Given the description of an element on the screen output the (x, y) to click on. 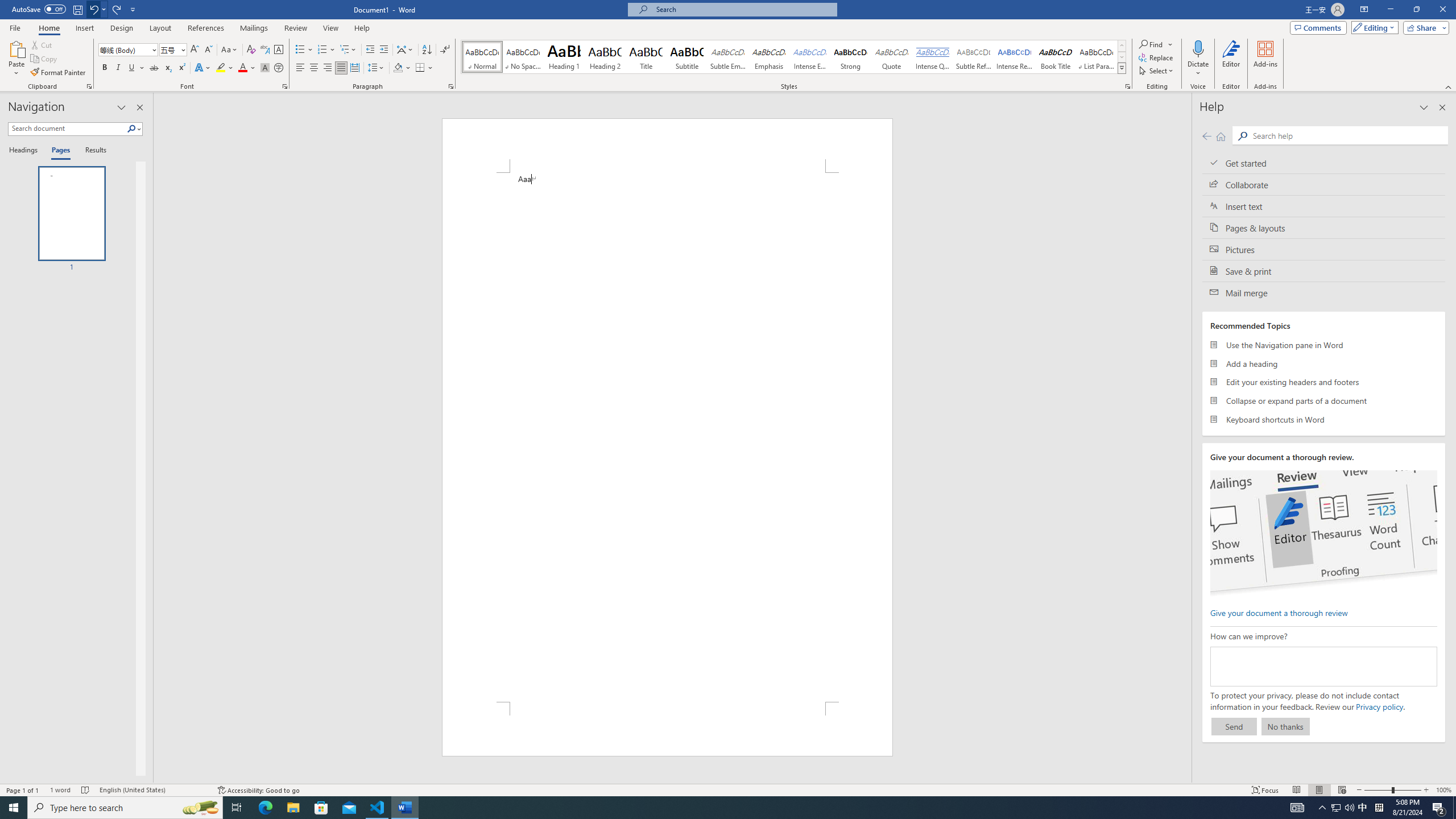
Align Right (327, 67)
Change Case (229, 49)
Text Highlight Color Yellow (220, 67)
Language English (United States) (152, 790)
Shrink Font (208, 49)
Task Pane Options (121, 107)
Undo Increase Indent (96, 9)
Search document (66, 128)
AutomationID: QuickStylesGallery (794, 56)
Enclose Characters... (278, 67)
Quick Access Toolbar (74, 9)
